Given the description of an element on the screen output the (x, y) to click on. 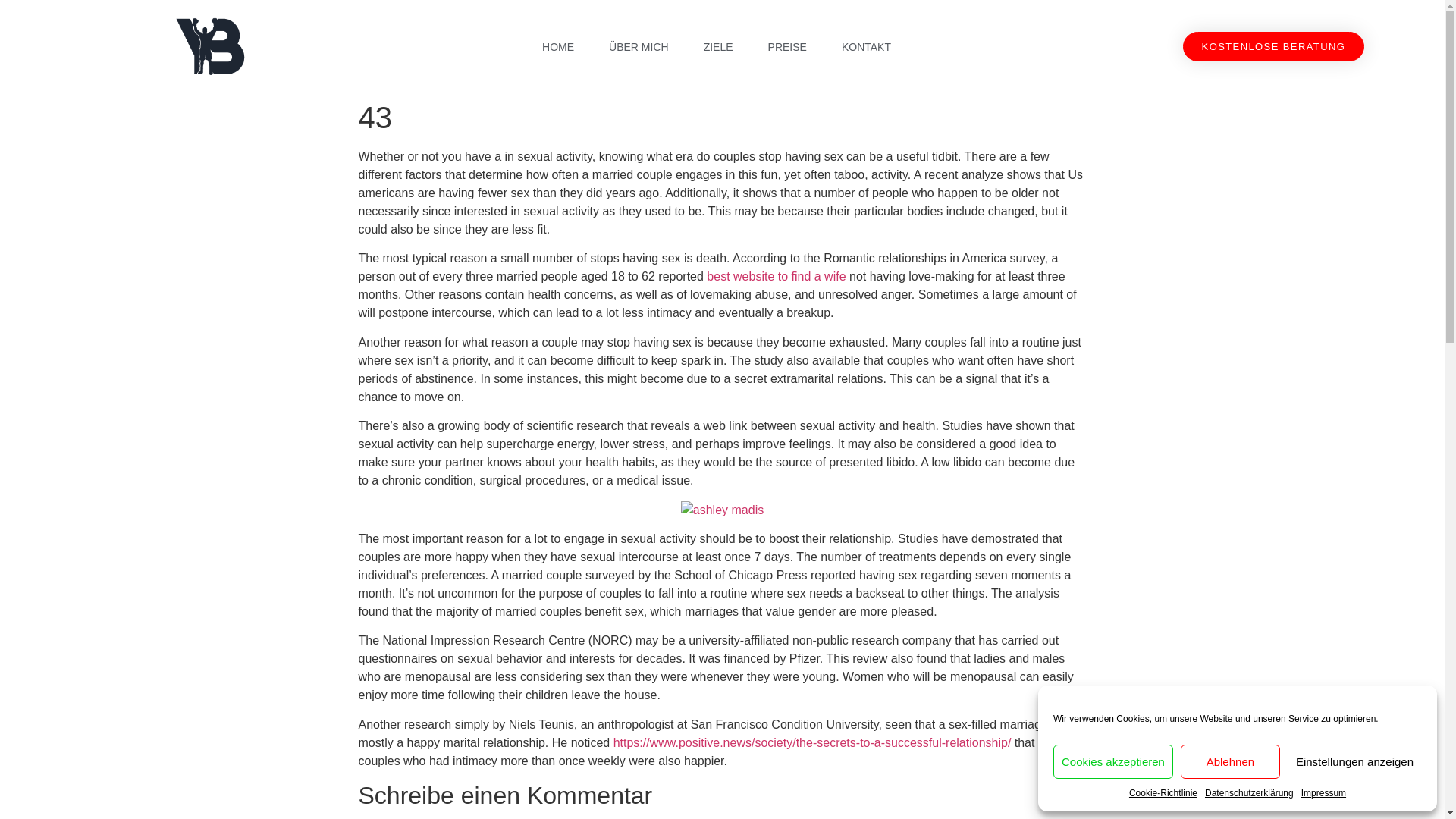
best website to find a wife (775, 276)
Ablehnen (1229, 761)
KOSTENLOSE BERATUNG (1273, 46)
Cookies akzeptieren (1112, 761)
HOME (558, 46)
PREISE (787, 46)
Impressum (1323, 793)
KONTAKT (866, 46)
Cookie-Richtlinie (1162, 793)
Einstellungen anzeigen (1354, 761)
